Given the description of an element on the screen output the (x, y) to click on. 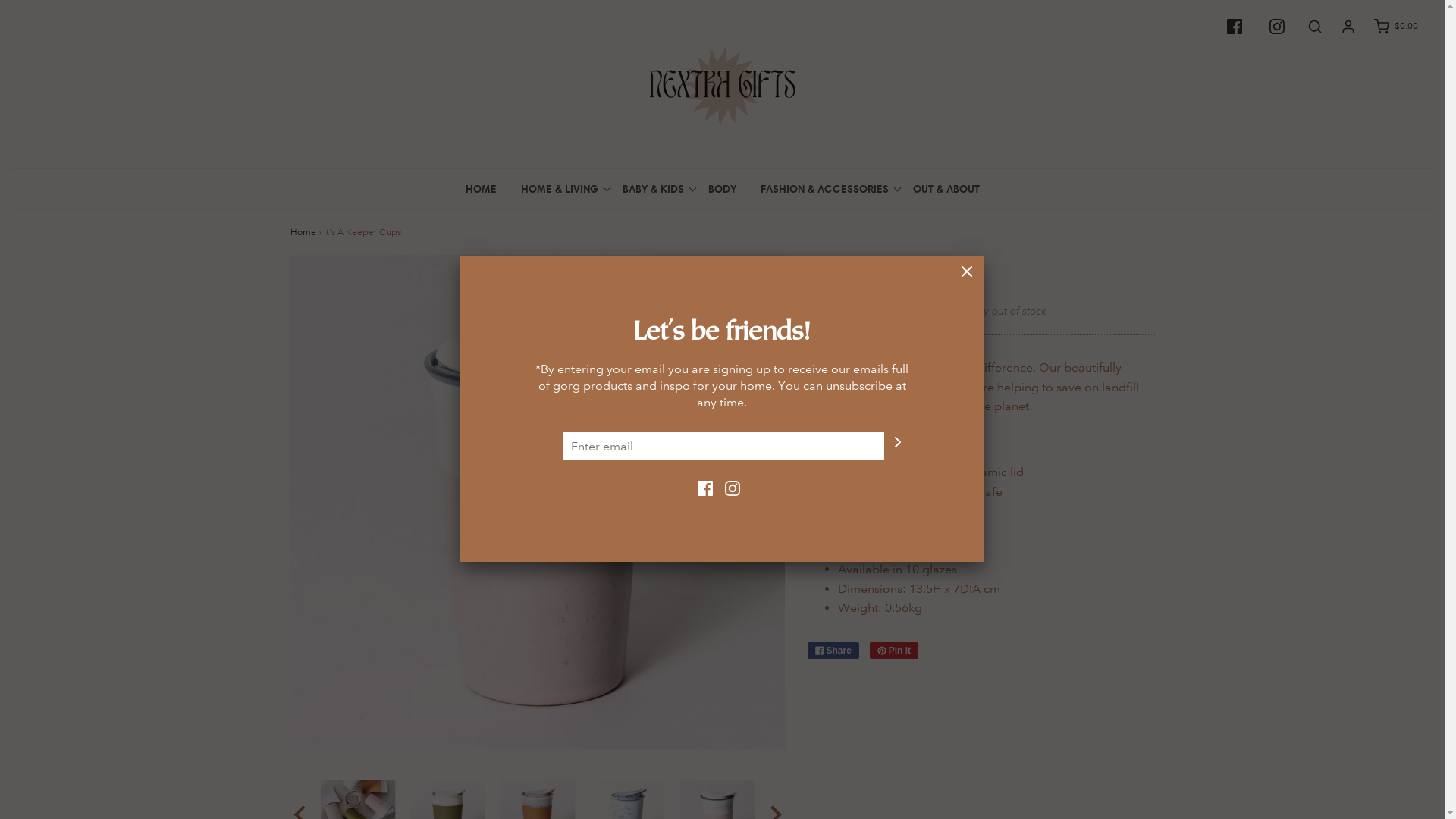
Search Element type: hover (1307, 26)
HOME Element type: text (480, 188)
BABY & KIDS Element type: text (653, 188)
OUT & ABOUT Element type: text (945, 188)
Pin it Element type: text (893, 650)
Share Element type: text (833, 650)
FASHION & ACCESSORIES Element type: text (824, 188)
HOME & LIVING Element type: text (559, 188)
Facebook icon Element type: text (1226, 28)
Log in Element type: hover (1340, 26)
Home Element type: text (302, 232)
Instagram icon Element type: text (1269, 28)
BODY Element type: text (721, 188)
$0.00 Element type: text (1387, 26)
